Given the description of an element on the screen output the (x, y) to click on. 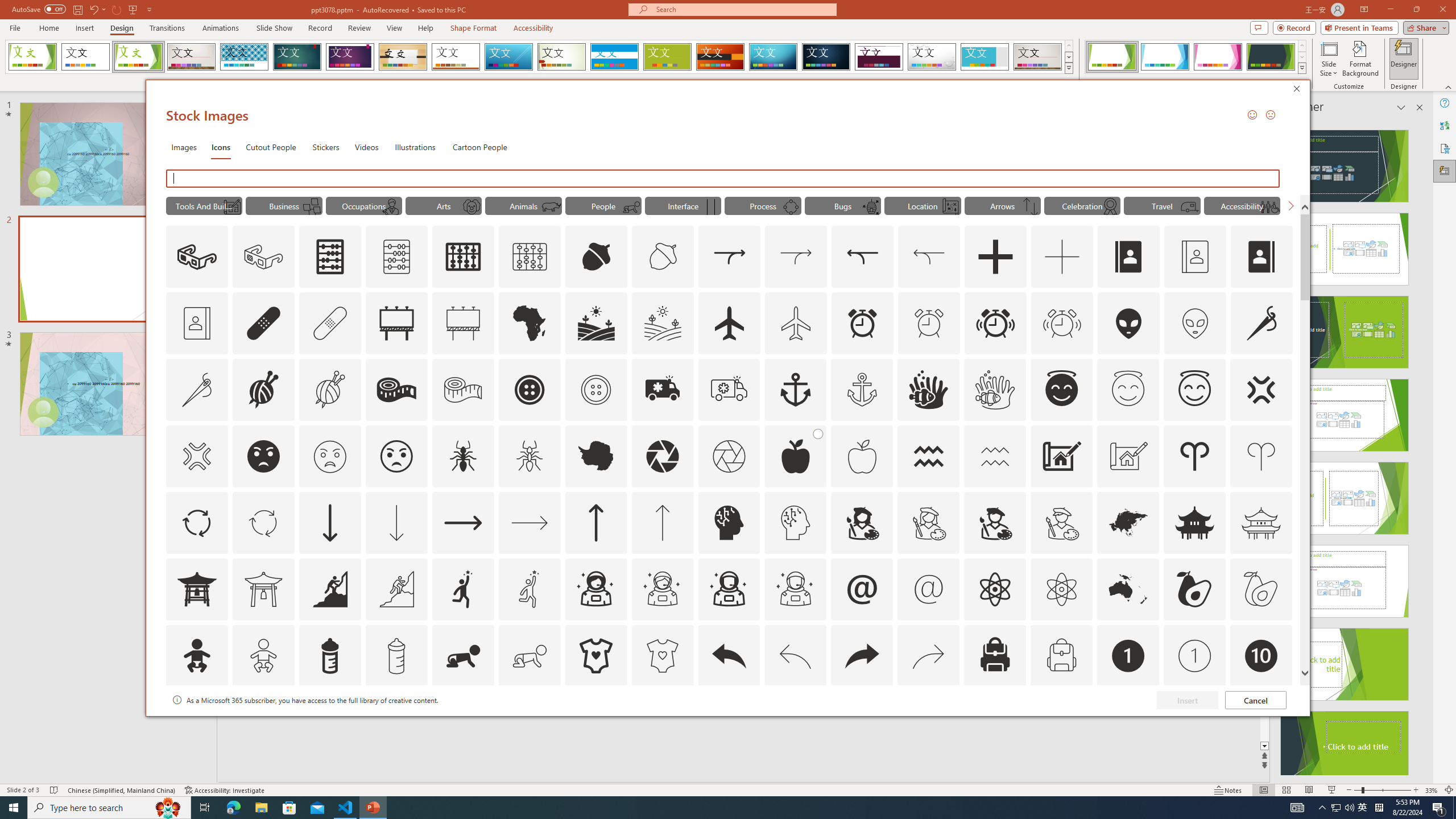
AutomationID: Icons_PostitNotes1_M (311, 206)
AutomationID: Icons_AlarmRinging_M (1062, 323)
AutomationID: Icons_Badge9 (1194, 721)
Organic (403, 56)
Search Icons (723, 178)
AutomationID: Icons_Badge1_M (1194, 655)
